Given the description of an element on the screen output the (x, y) to click on. 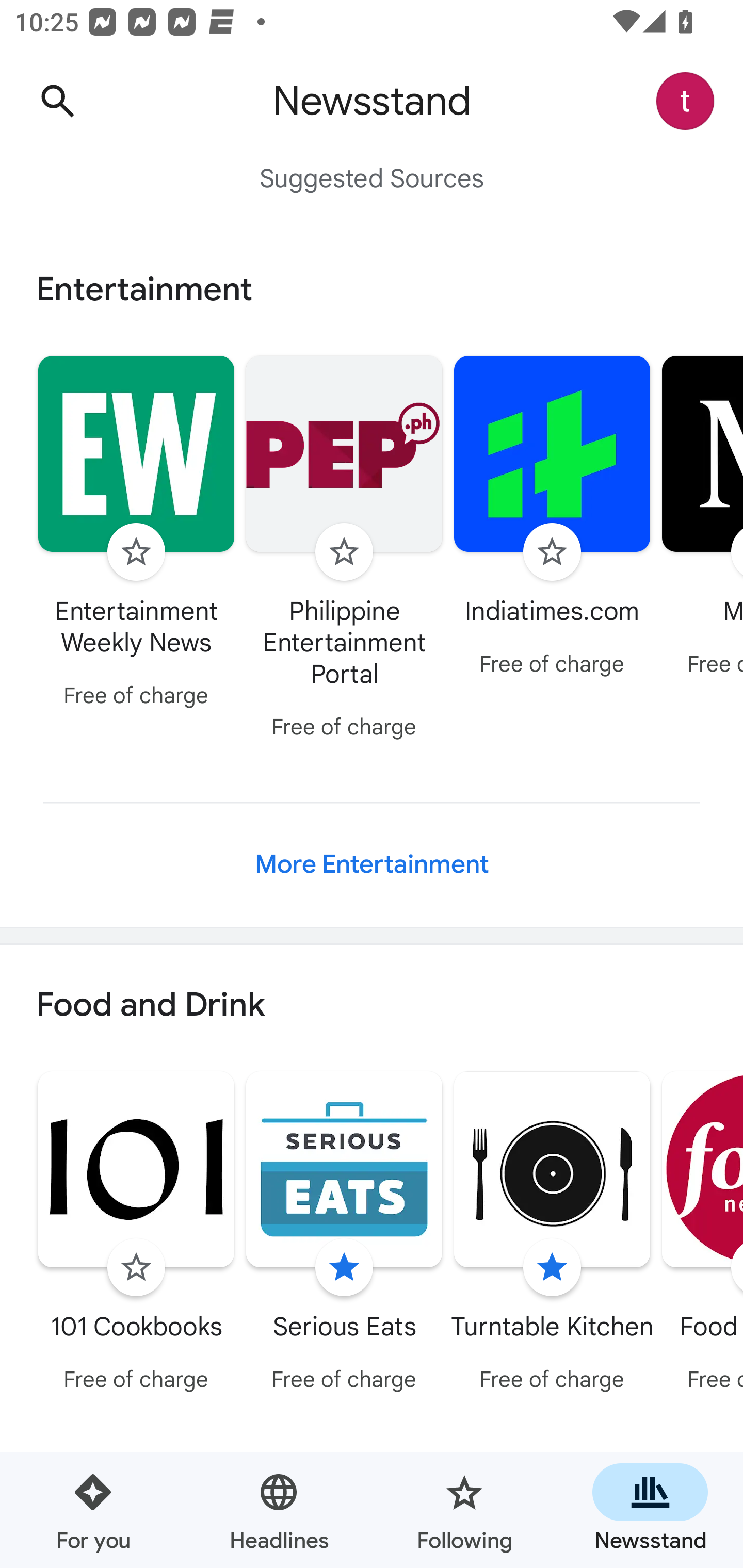
Search (57, 100)
Entertainment (371, 288)
Follow Entertainment Weekly News Free of charge (136, 534)
Follow Indiatimes.com Free of charge (552, 517)
Follow (135, 551)
Follow (343, 551)
Follow (552, 551)
More Entertainment (371, 864)
Food and Drink (371, 1005)
Follow 101 Cookbooks Free of charge (136, 1234)
Unfollow Serious Eats Free of charge (344, 1234)
Unfollow Turntable Kitchen Free of charge (552, 1234)
Follow (135, 1267)
Unfollow (343, 1267)
Unfollow (552, 1267)
For you (92, 1509)
Headlines (278, 1509)
Following (464, 1509)
Newsstand (650, 1509)
